Given the description of an element on the screen output the (x, y) to click on. 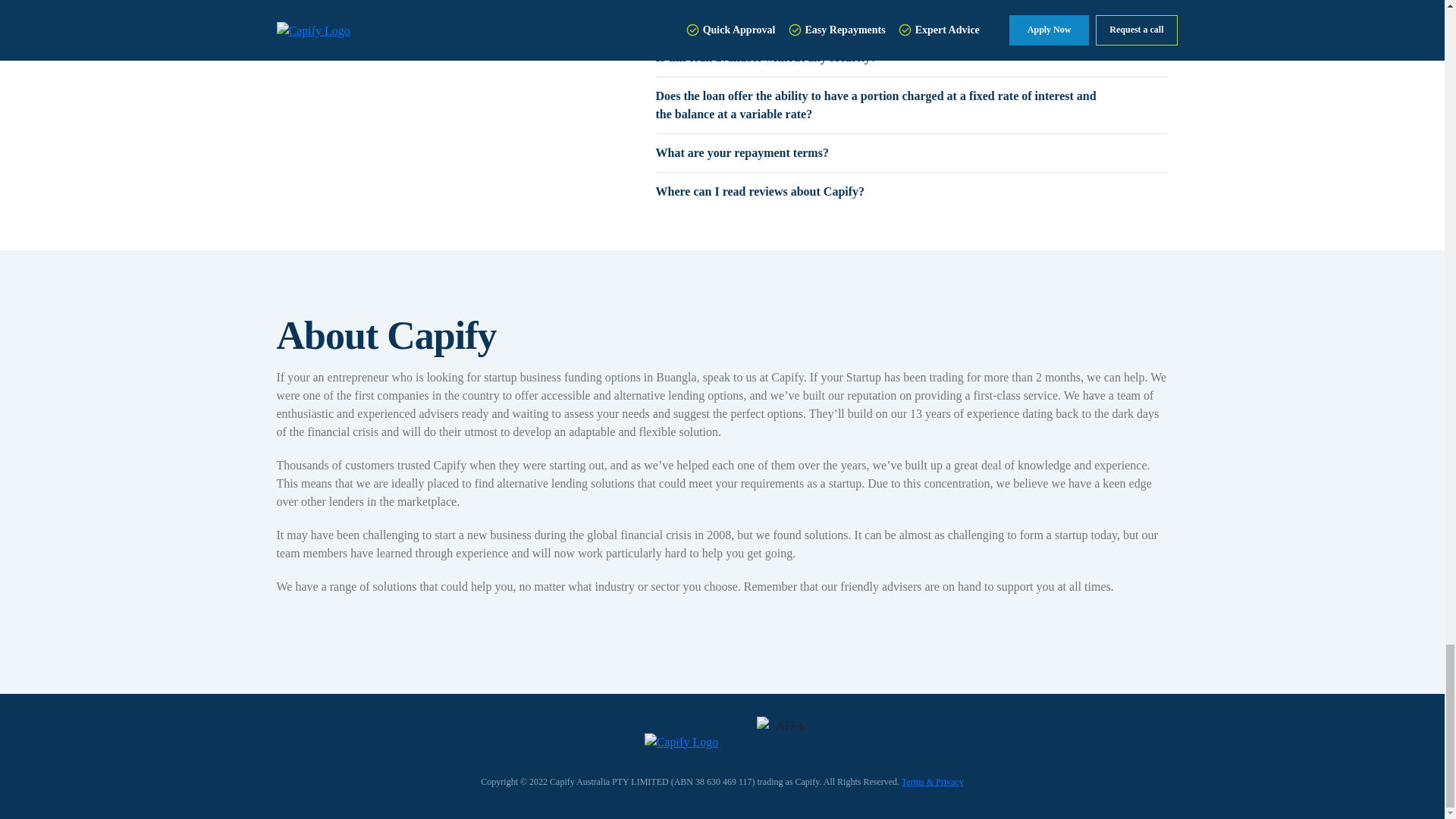
Is this loan available without any security? (911, 57)
How soon will I get approved for a loan? (911, 18)
Where can I read reviews about Capify? (911, 191)
What are your repayment terms? (911, 152)
